Given the description of an element on the screen output the (x, y) to click on. 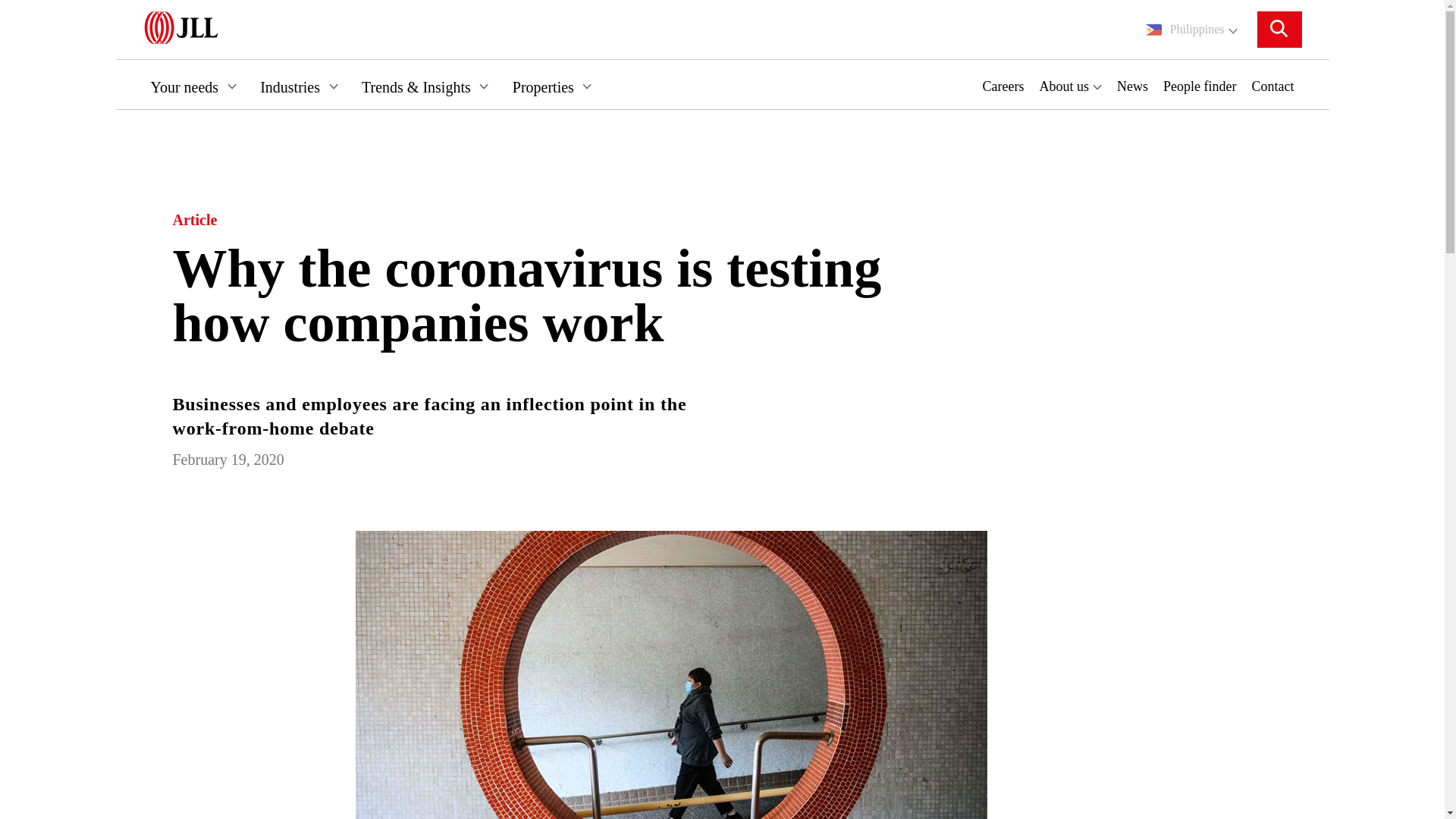
Philippines (1190, 29)
